Given the description of an element on the screen output the (x, y) to click on. 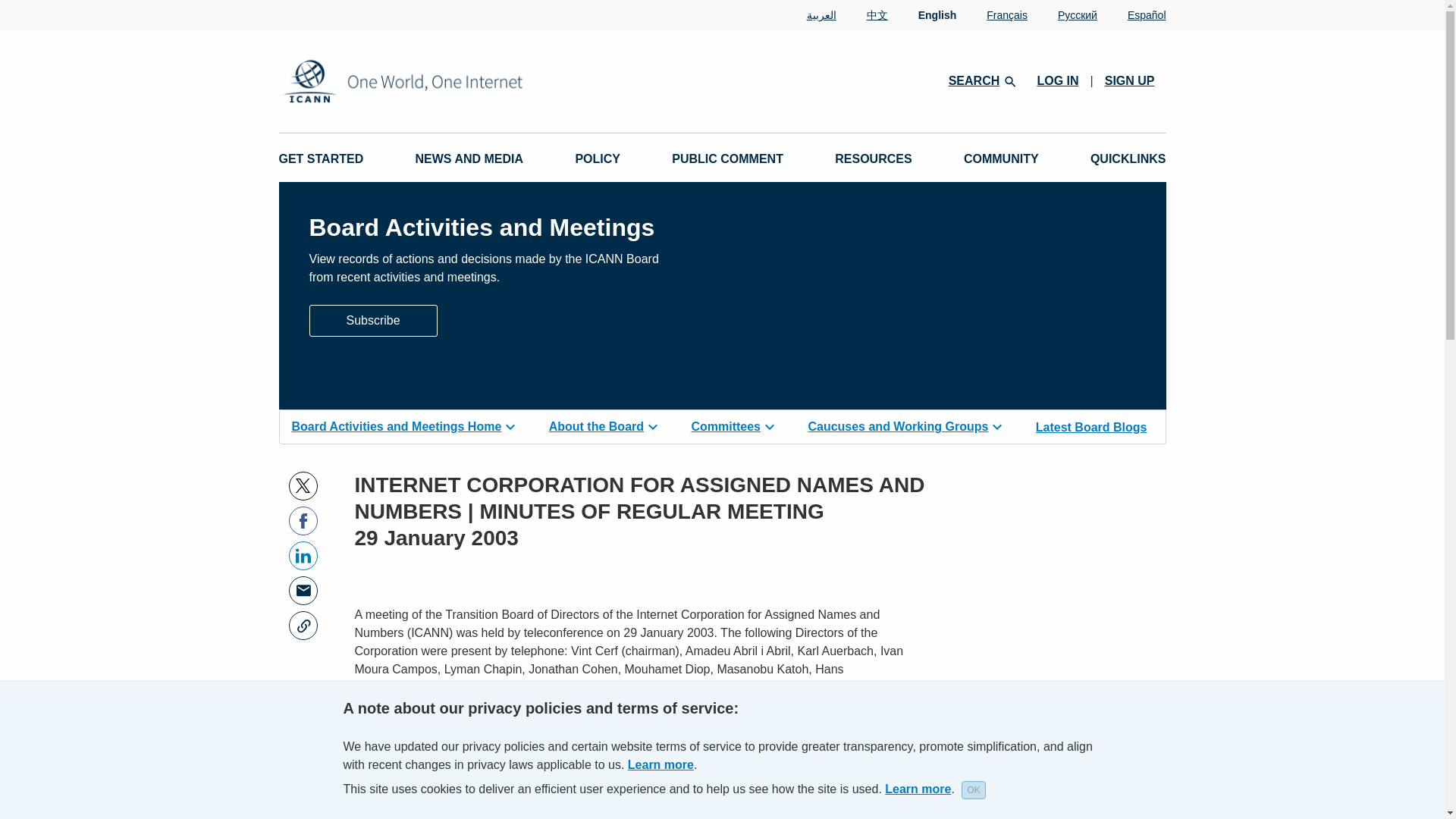
QUICKLINKS (1128, 158)
Learn more (660, 764)
POLICY (597, 158)
SIGN UP (1129, 80)
RESOURCES (872, 158)
PUBLIC COMMENT (727, 158)
NEWS AND MEDIA (469, 158)
Learn more (917, 788)
SEARCH (981, 79)
Logo (452, 81)
COMMUNITY (1001, 158)
LOG IN (1057, 81)
OK (972, 790)
GET STARTED (321, 158)
Subscribe (373, 318)
